Given the description of an element on the screen output the (x, y) to click on. 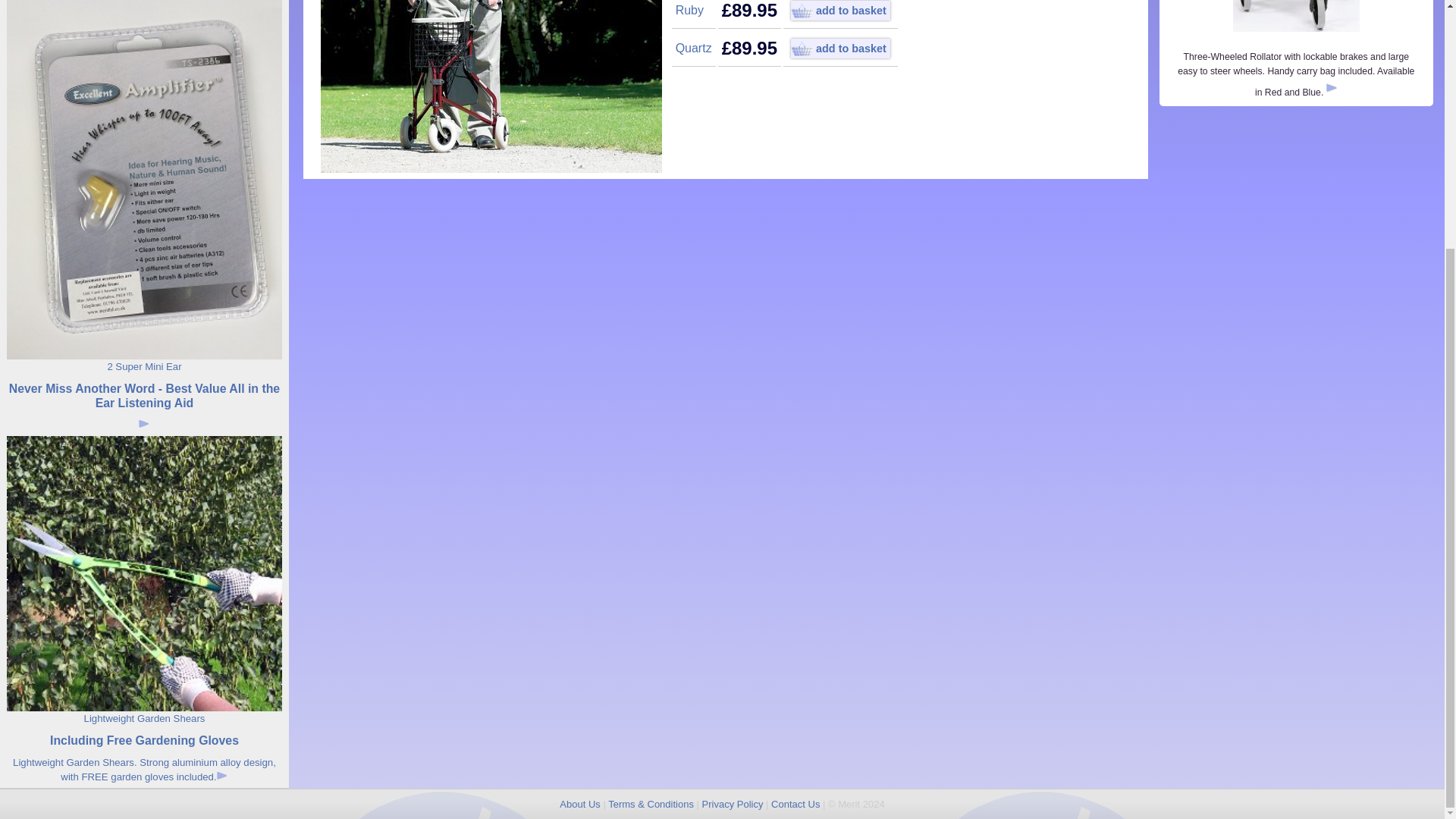
Lightweight Garden Shears (144, 717)
Privacy Policy (731, 803)
Quartz (693, 47)
About Us (579, 803)
add to basket (839, 10)
2 Super Mini Ear (143, 366)
Ruby (689, 10)
add to basket (839, 48)
Three-Wheeled Rollator - Steel (1295, 18)
Contact Us (795, 803)
